Given the description of an element on the screen output the (x, y) to click on. 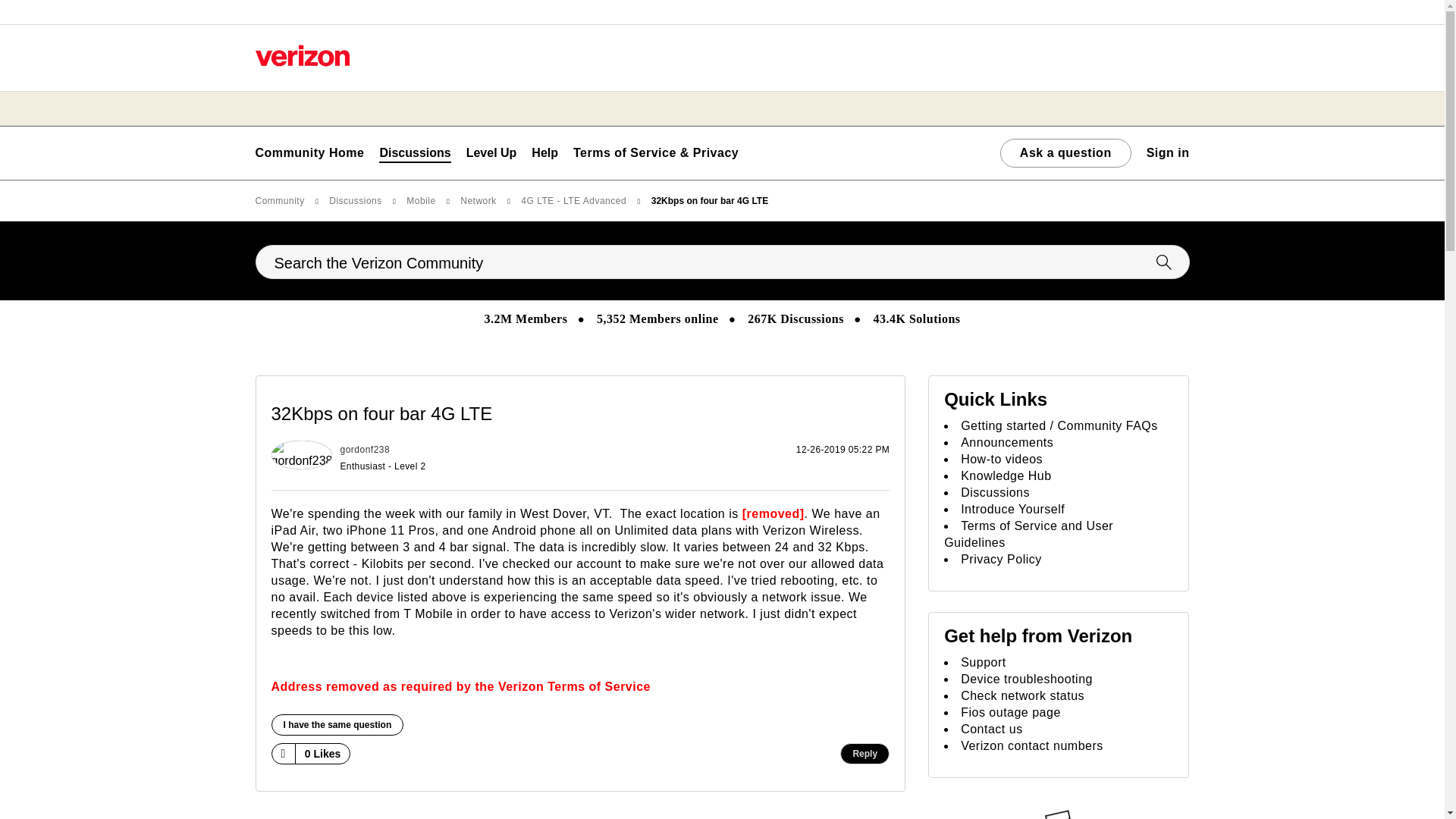
HIGH DATA USERS BEWARE!!! Unacceptable 4G speeds (773, 816)
The total number of likes this post has received. (322, 753)
Click here if you had a similar experience (337, 724)
4G LTE - LTE Advanced (677, 816)
Verizon Home Page (301, 55)
Search (721, 261)
Posted on (678, 457)
gordonf238 (301, 454)
Click here to give likes to this post. (282, 753)
